Given the description of an element on the screen output the (x, y) to click on. 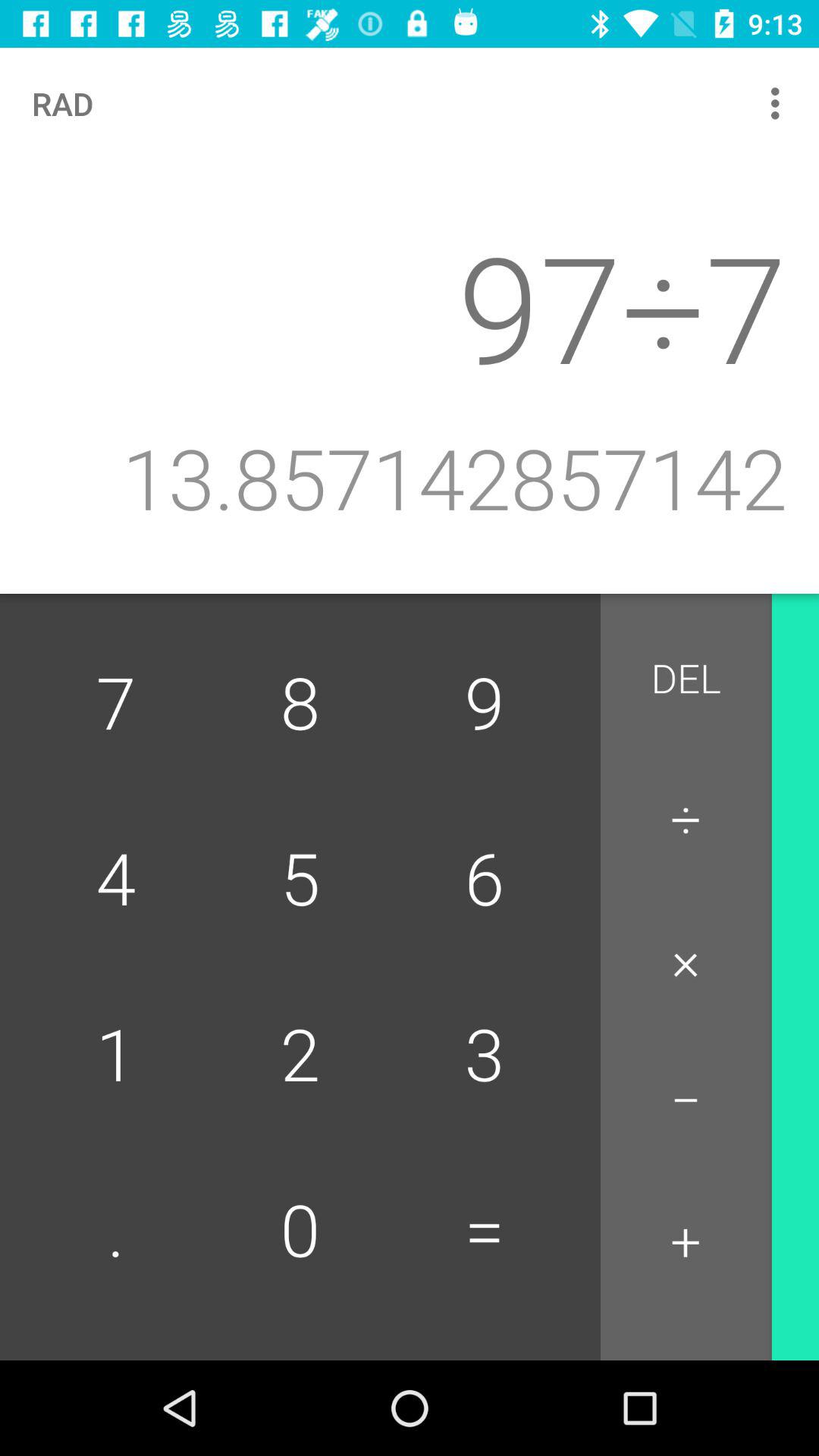
scroll to the inv item (815, 687)
